Given the description of an element on the screen output the (x, y) to click on. 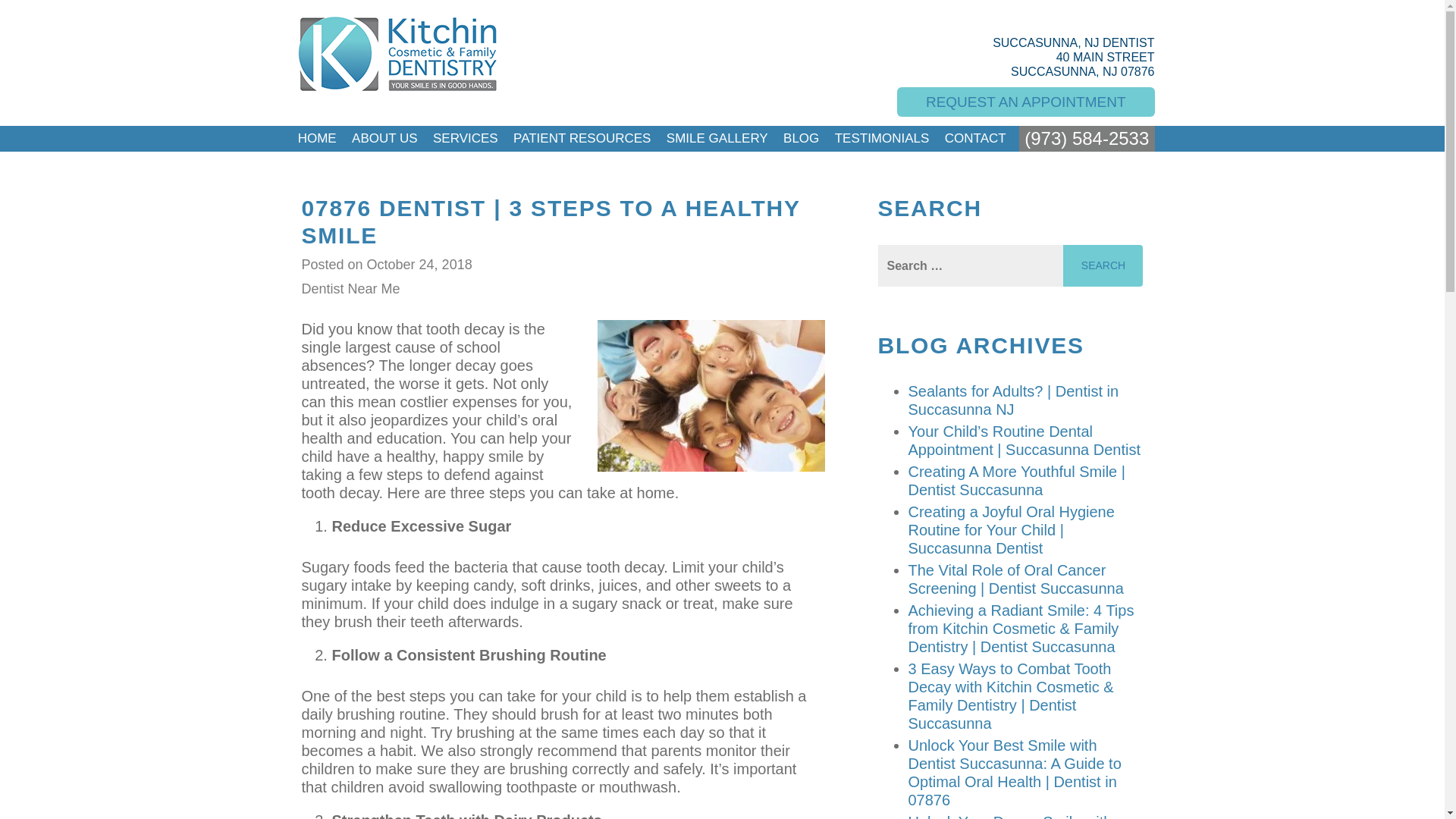
REQUEST AN APPOINTMENT (1025, 101)
SERVICES (465, 138)
HOME (316, 138)
ABOUT US (384, 138)
Search (1102, 265)
Search (1102, 265)
